Given the description of an element on the screen output the (x, y) to click on. 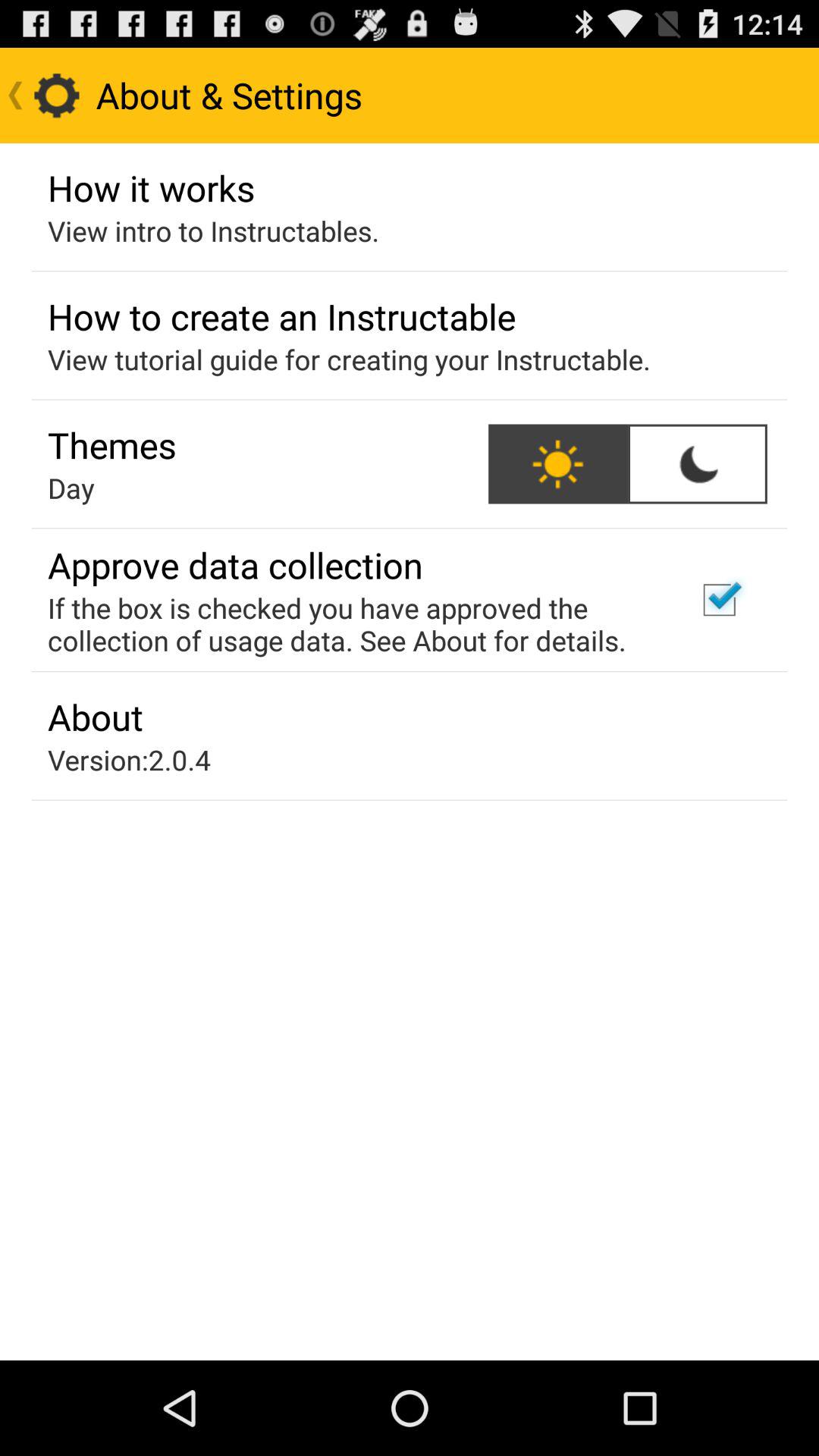
select item to the right of the themes app (557, 463)
